Given the description of an element on the screen output the (x, y) to click on. 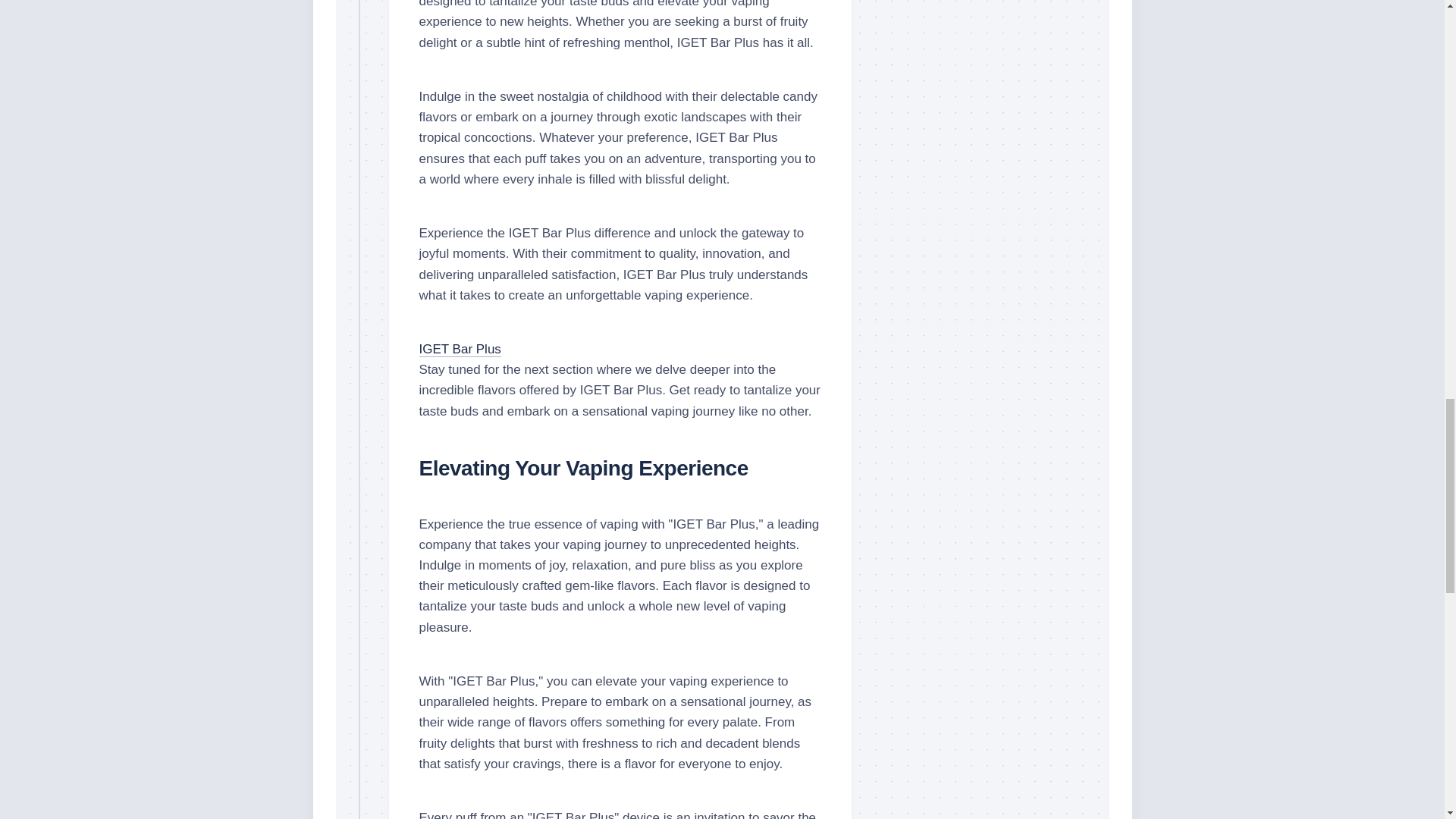
IGET Bar Plus (459, 349)
